Given the description of an element on the screen output the (x, y) to click on. 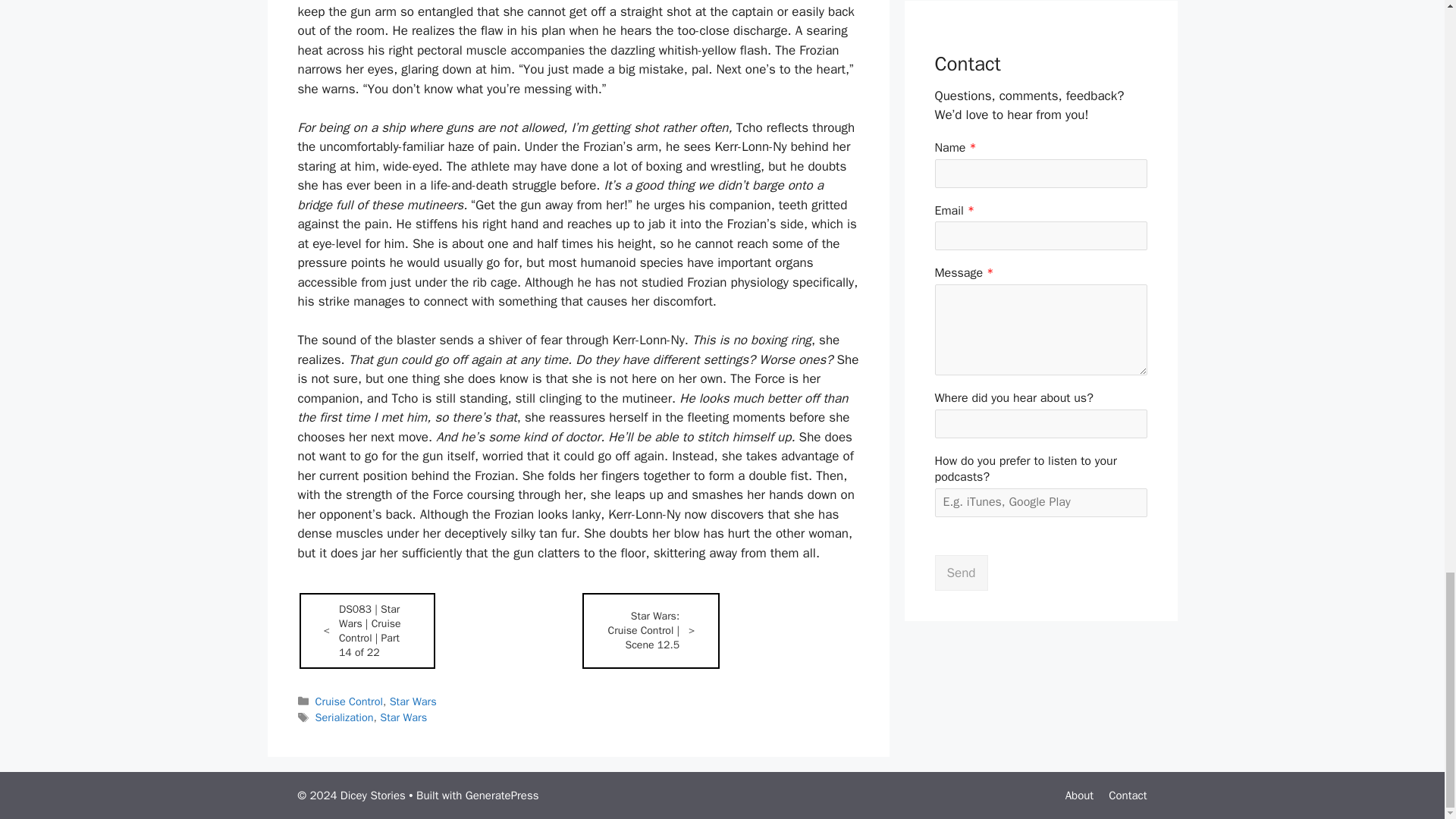
Serialization (344, 716)
Star Wars (403, 716)
Star Wars (413, 701)
Cruise Control (348, 701)
